Given the description of an element on the screen output the (x, y) to click on. 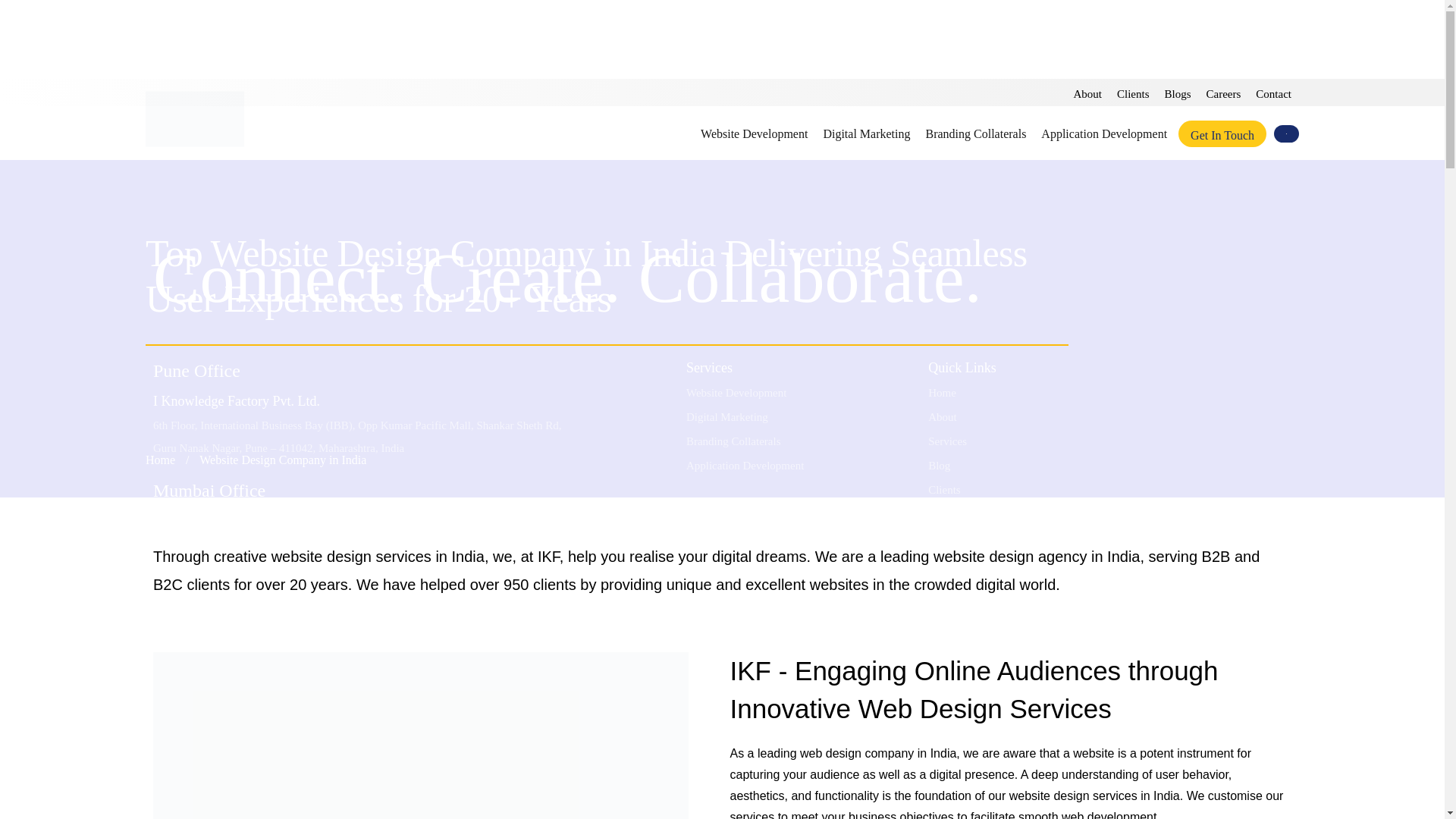
Website Development (754, 138)
Contact (1273, 93)
Blogs (1177, 93)
Call Us (829, 647)
About (1088, 93)
Careers (1224, 93)
Clients (1133, 93)
Mail Us (829, 698)
